Given the description of an element on the screen output the (x, y) to click on. 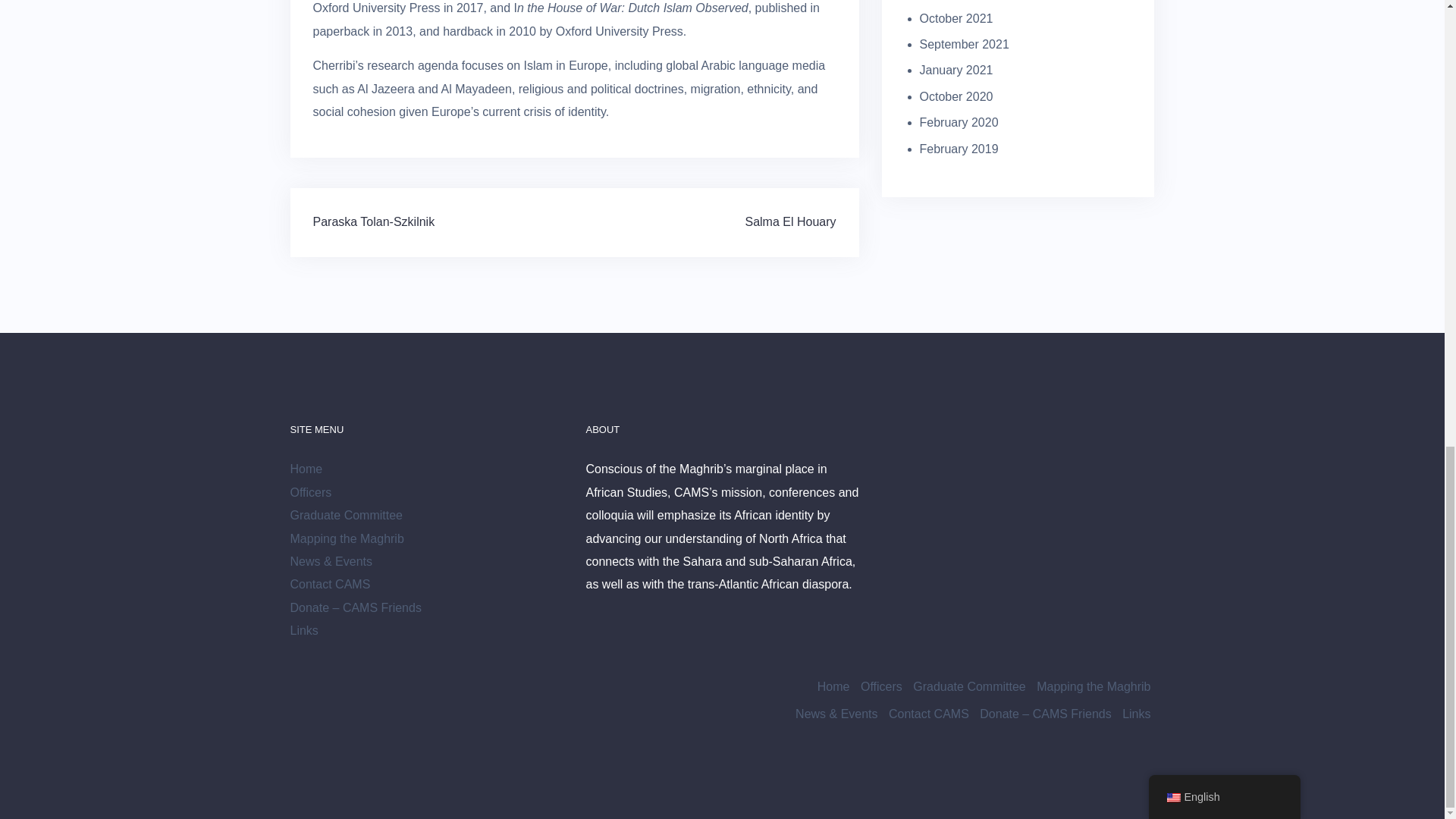
Salma El Houary (789, 221)
Paraska Tolan-Szkilnik (373, 221)
October 2021 (955, 18)
